Given the description of an element on the screen output the (x, y) to click on. 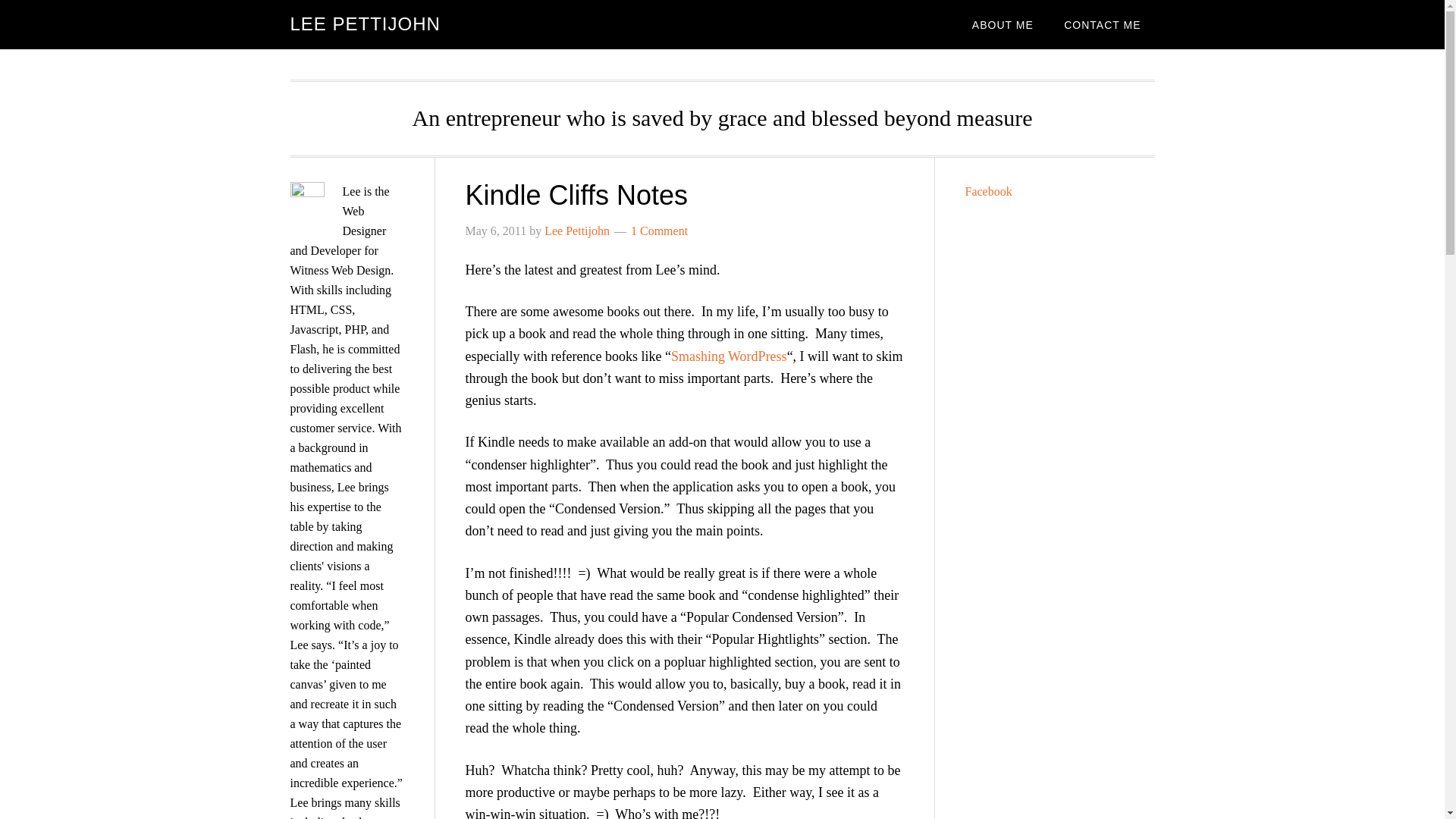
LEE PETTIJOHN (364, 23)
Kindle Cliffs Notes (576, 194)
ABOUT ME (1002, 24)
Smashing WordPress (729, 355)
Facebook (987, 191)
1 Comment (658, 230)
Lee Pettijohn (577, 230)
Smashing WordPress (729, 355)
CONTACT ME (1101, 24)
